Given the description of an element on the screen output the (x, y) to click on. 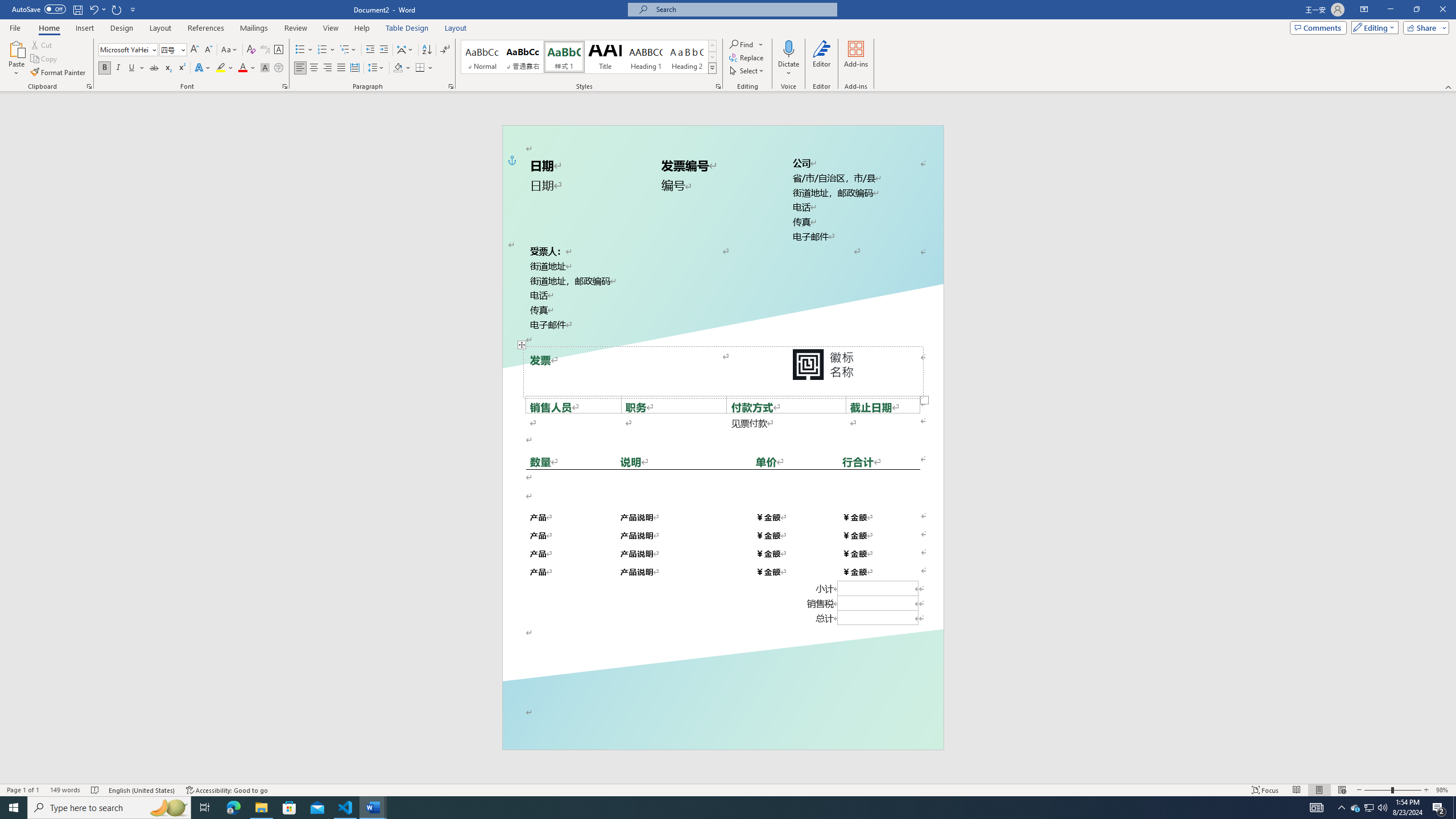
Page 1 content (722, 425)
First Page Footer -Section 1- (722, 723)
